Given the description of an element on the screen output the (x, y) to click on. 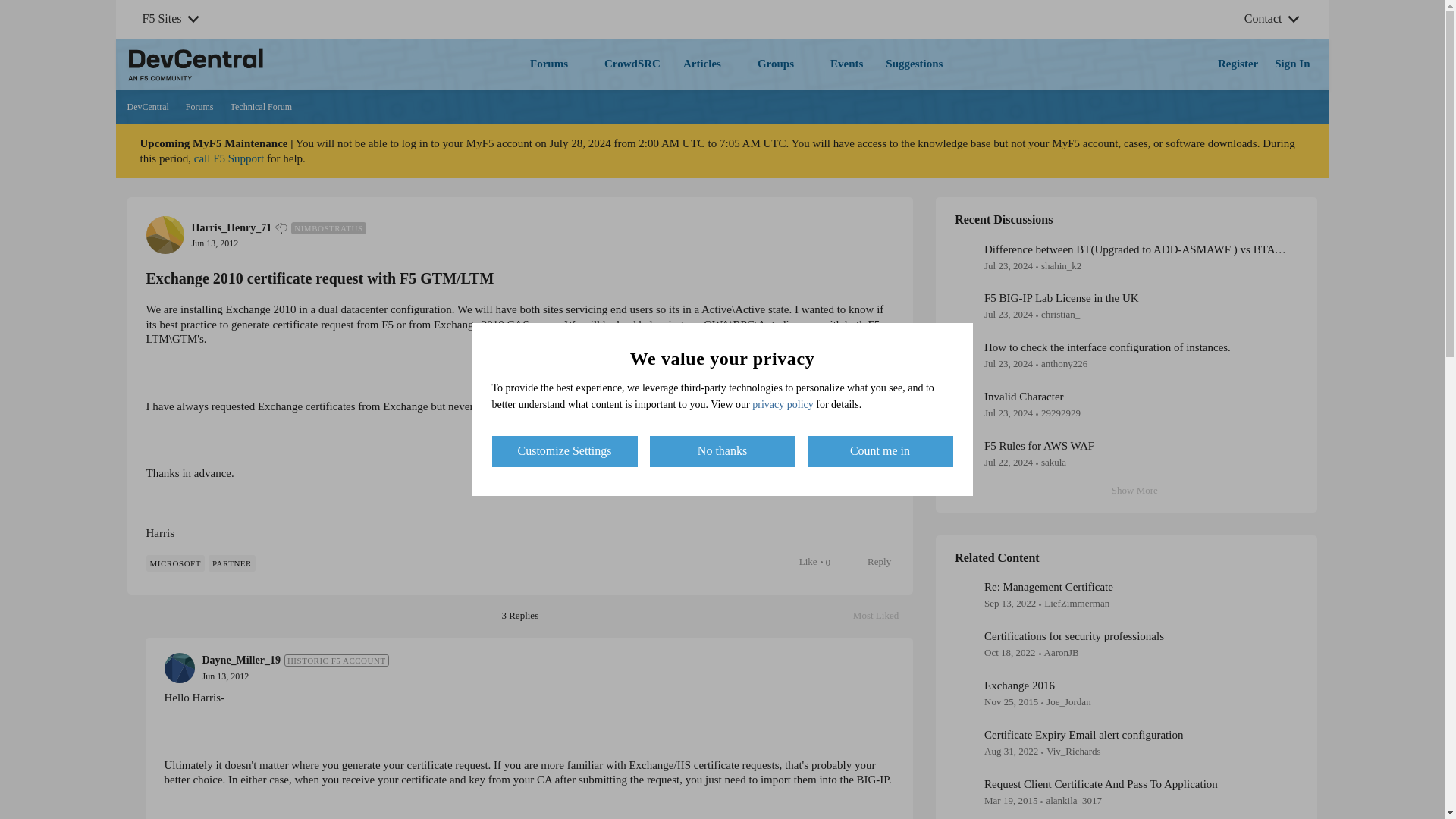
Re: Management Certificate (1048, 586)
F5 BIG-IP Lab License in the UK (882, 615)
PARTNER (1061, 297)
CrowdSRC (232, 563)
Exchange 2016 (632, 63)
Articles (1019, 685)
October 17, 2022 at 10:26 PM (708, 63)
F5 Rules for AWS WAF (1009, 652)
Forums (1039, 445)
Reply (200, 107)
Technical Forum (870, 561)
Certifications for security professionals (261, 107)
July 22, 2024 at 4:34 PM (1073, 635)
Invalid Character (1008, 363)
